Given the description of an element on the screen output the (x, y) to click on. 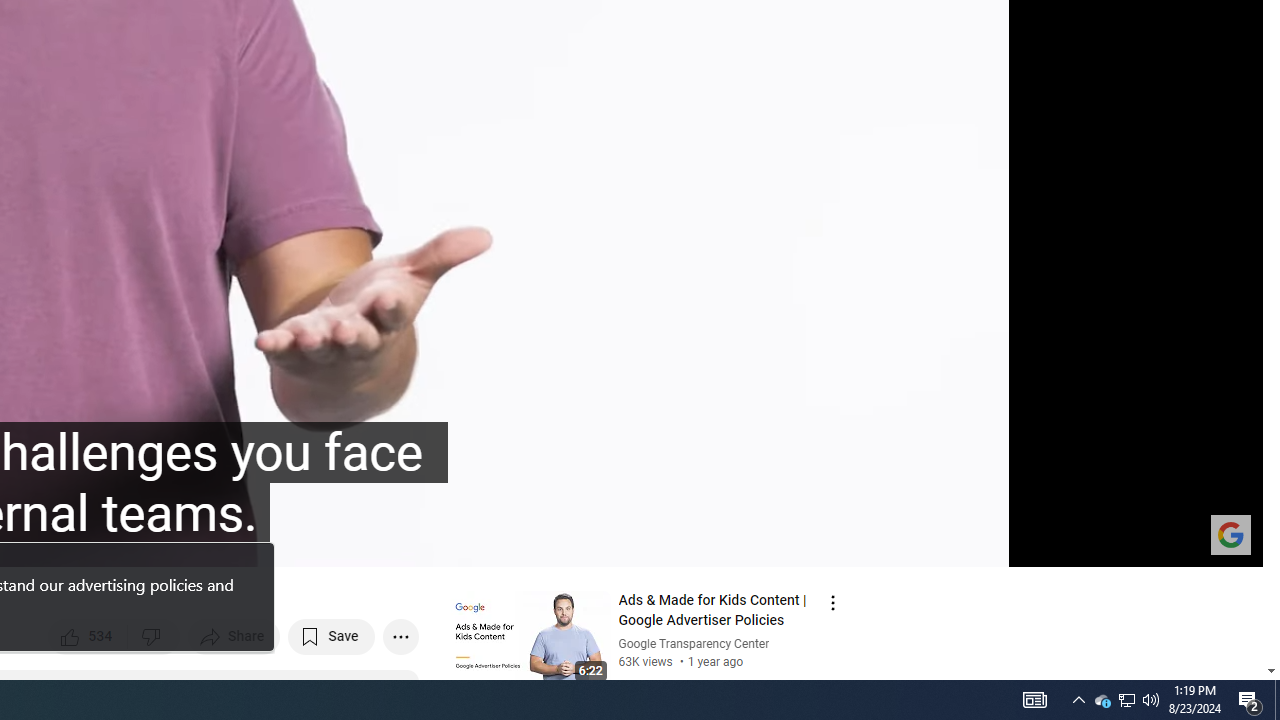
Dislike this video (154, 636)
